Given the description of an element on the screen output the (x, y) to click on. 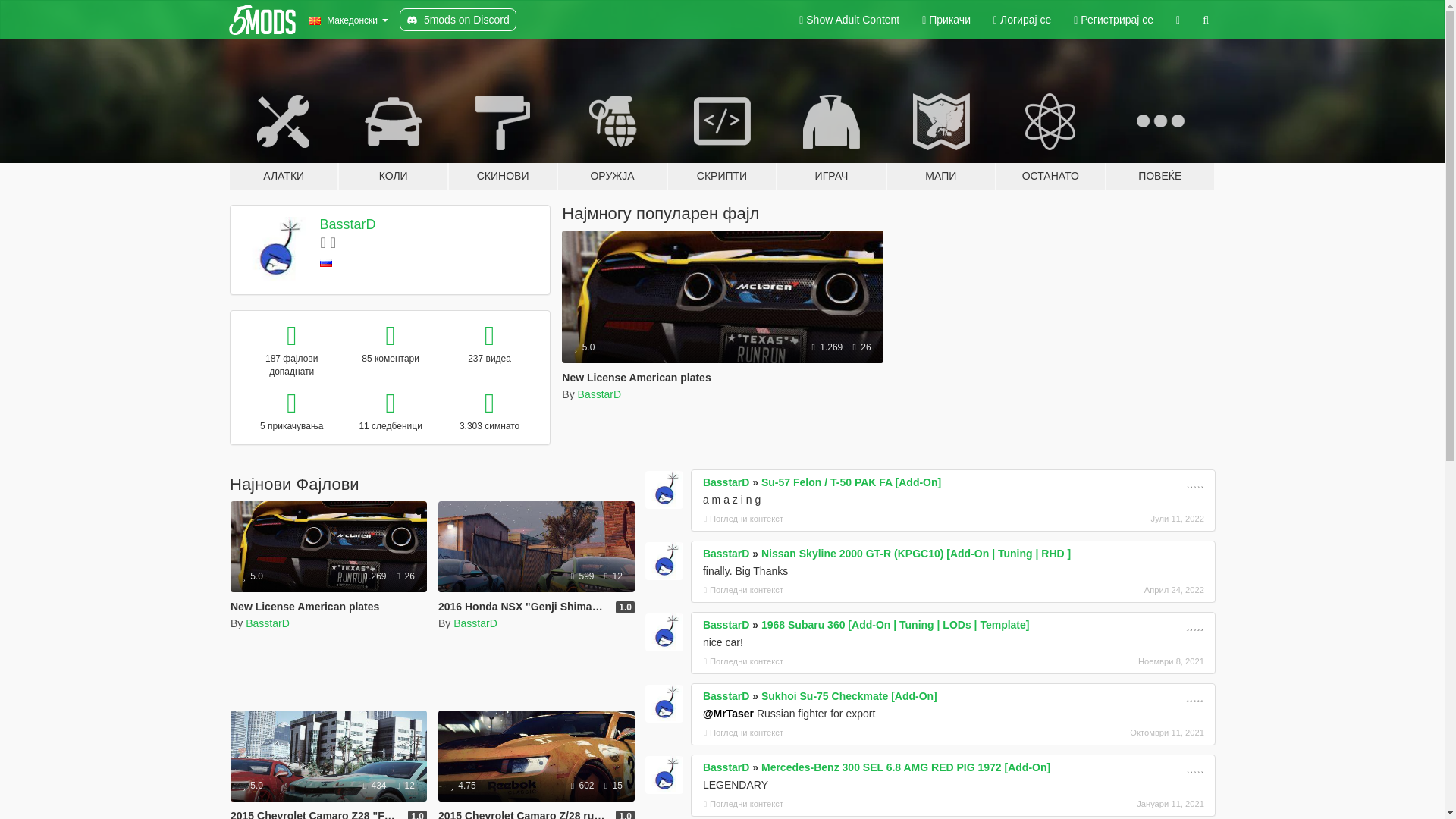
New License American plates (722, 296)
New License American plates (304, 606)
New License American plates (636, 377)
BasstarD (599, 394)
New License American plates (328, 546)
5mods on Discord (457, 19)
2016 Honda NSX  (536, 546)
New License American plates (328, 566)
5.0 star rating (583, 347)
New License American plates (722, 337)
BasstarD (267, 623)
Show Adult Content (849, 19)
Light mode (849, 19)
5.0 star rating (253, 575)
